Given the description of an element on the screen output the (x, y) to click on. 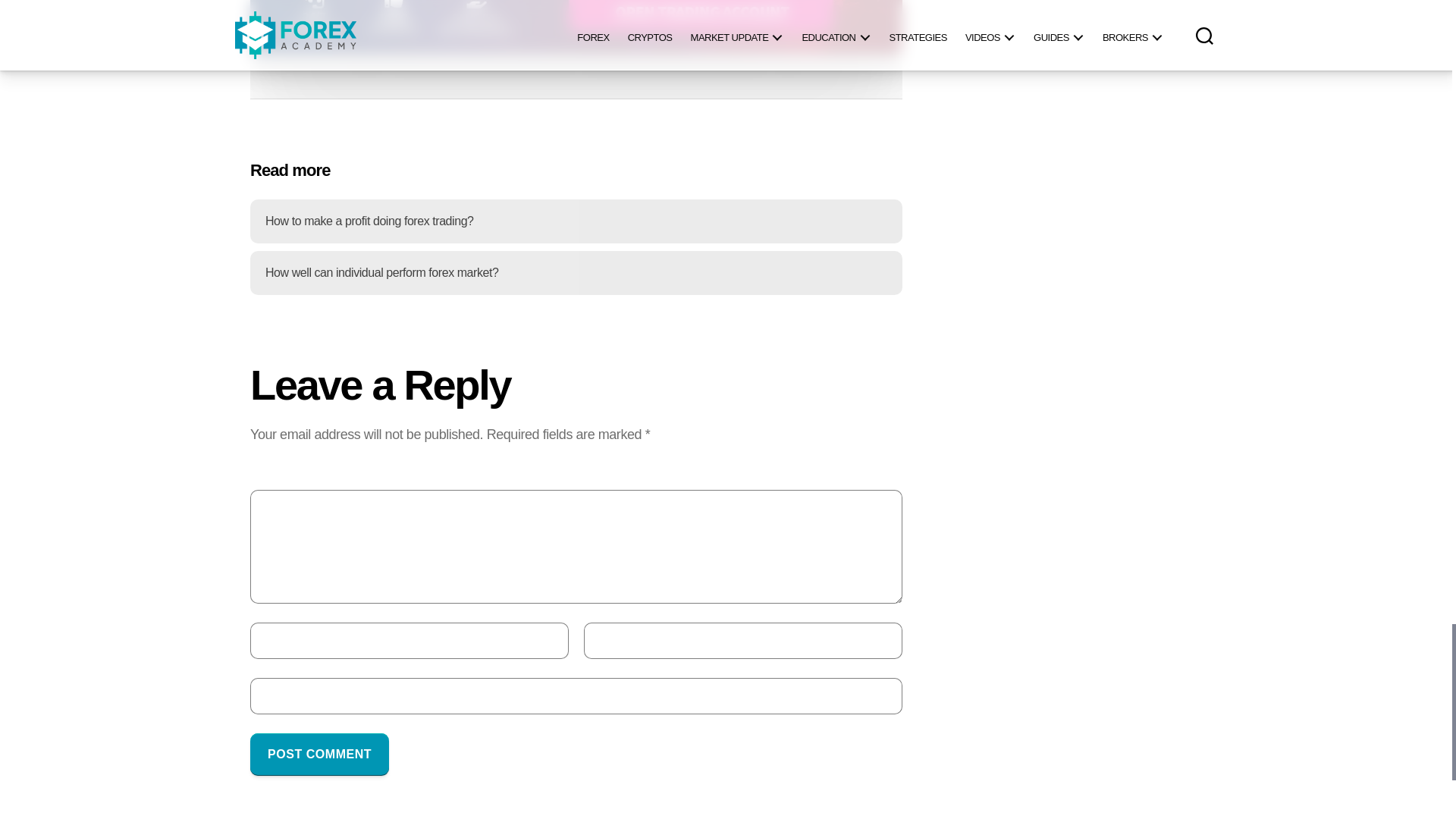
Post Comment (319, 753)
